Given the description of an element on the screen output the (x, y) to click on. 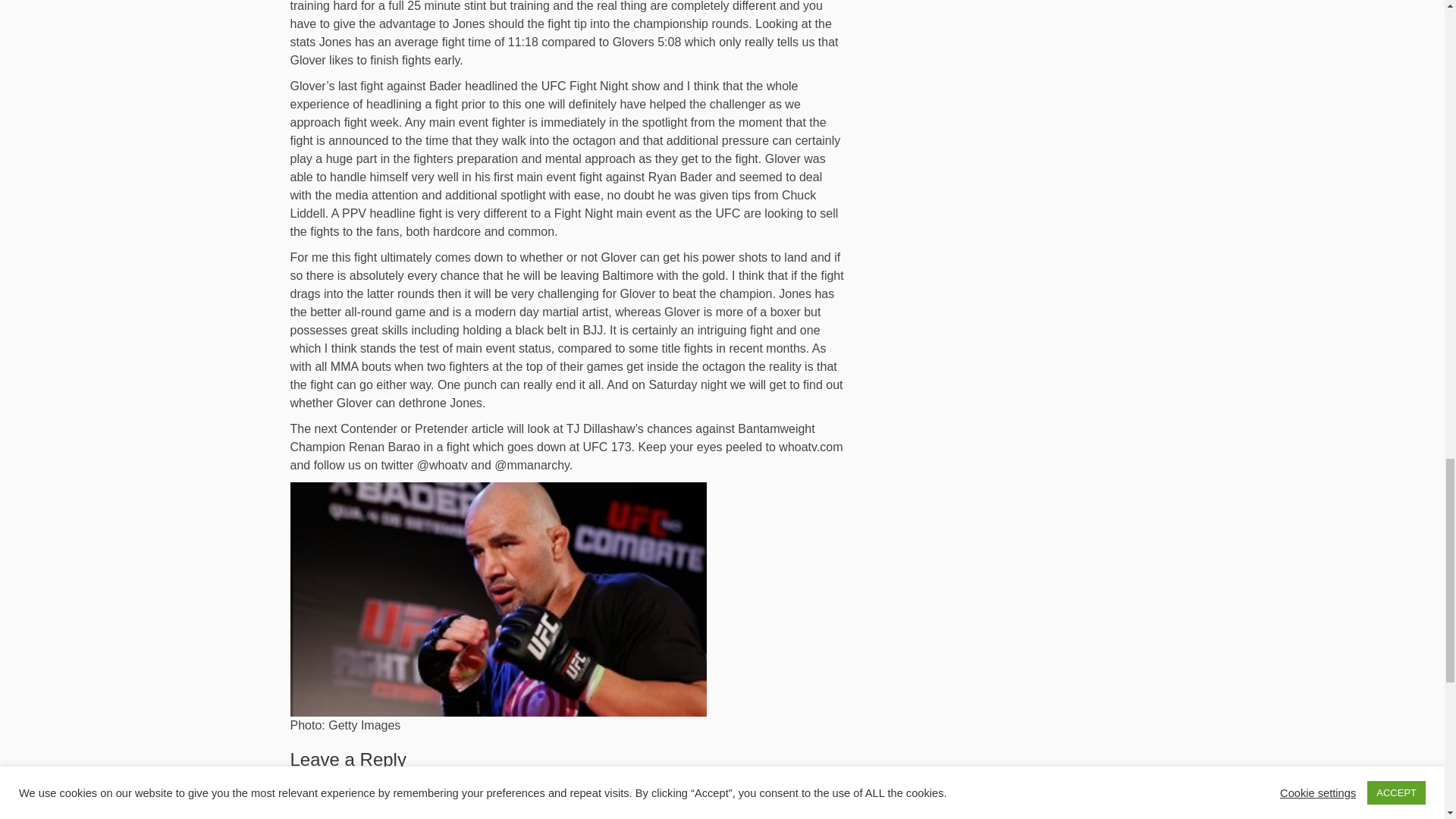
roshe run 2015 (330, 743)
nike air max 1 (821, 761)
nike air max pas cher (418, 797)
low hornets 13s (598, 743)
michael kors uk (516, 779)
nike roshe run noir (339, 761)
free run pas cher (820, 743)
low georgetown 11s (343, 743)
low bred 11s (518, 743)
nike free run (548, 761)
